Given the description of an element on the screen output the (x, y) to click on. 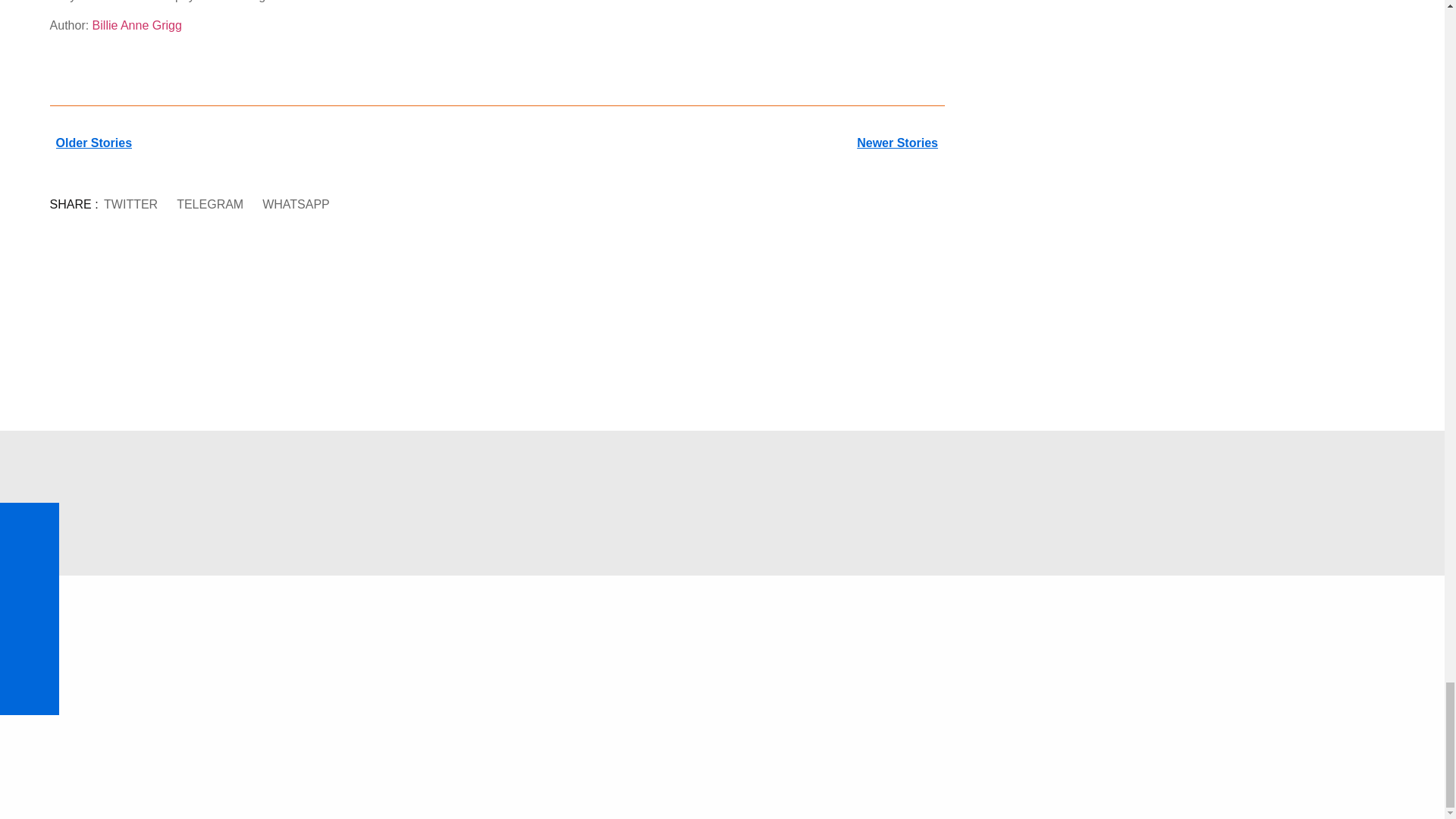
Newer Stories (719, 143)
Billie Anne Grigg (137, 24)
Older Stories (273, 143)
